Given the description of an element on the screen output the (x, y) to click on. 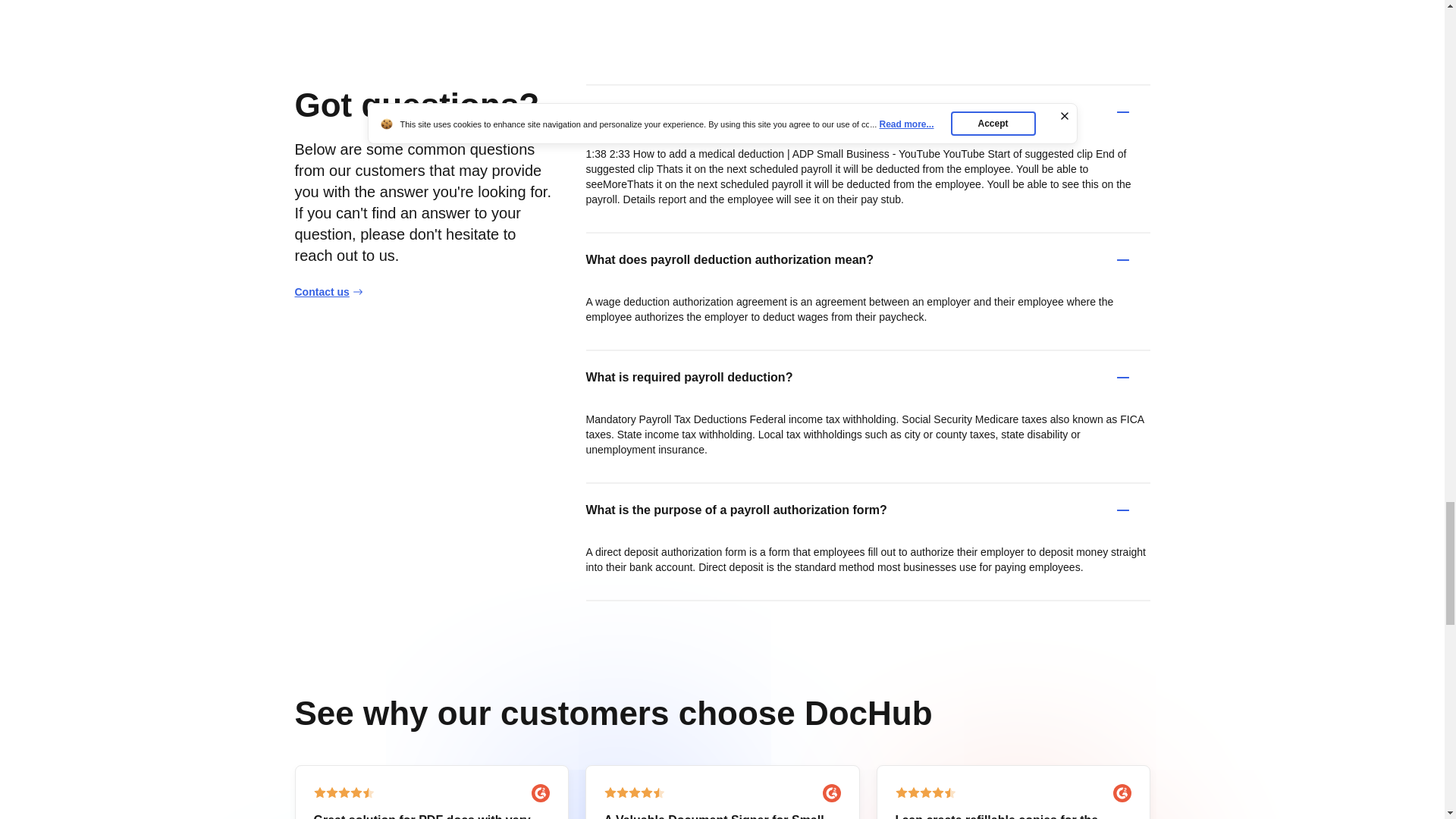
Contact us (328, 291)
